Given the description of an element on the screen output the (x, y) to click on. 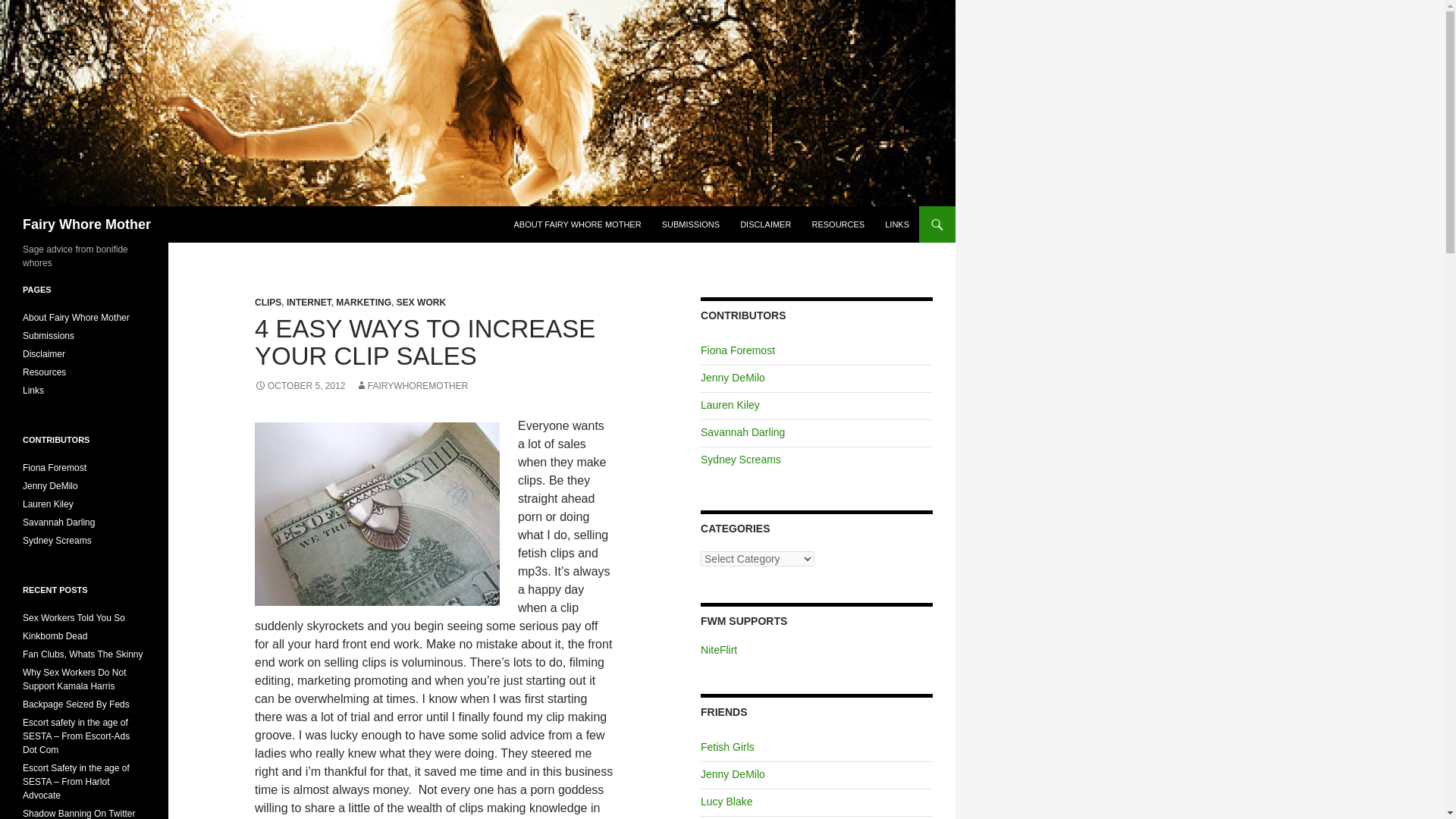
Jenny DeMilo (732, 774)
LINKS (897, 224)
Lauren Kiley (730, 404)
Fetish Girls (727, 746)
NiteFlirt (718, 649)
Savannah Darling (742, 431)
RESOURCES (837, 224)
Jenny DeMilo (732, 377)
CLIPS (267, 302)
Greenbacks (376, 514)
Lucy Blake (726, 801)
Sydney Screams (740, 459)
ABOUT FAIRY WHORE MOTHER (577, 224)
Fiona Foremost (737, 349)
